Given the description of an element on the screen output the (x, y) to click on. 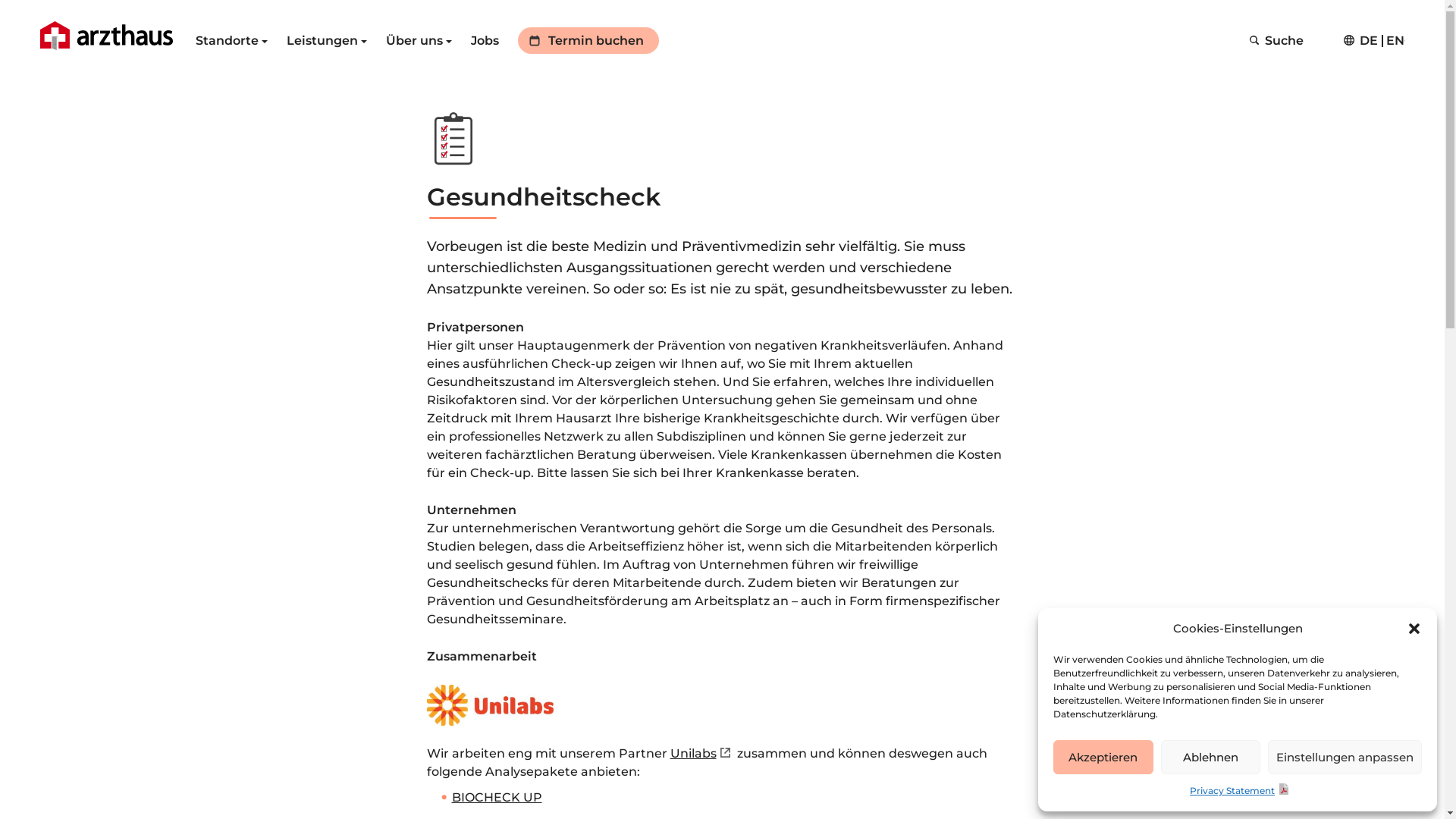
Privacy Statement Element type: text (1240, 790)
Unilabs Element type: text (702, 753)
ENGLISH Element type: text (1395, 40)
Jobs Element type: text (484, 40)
Einstellungen anpassen Element type: text (1344, 757)
Akzeptieren Element type: text (1103, 757)
Ablehnen Element type: text (1210, 757)
Leistungen Element type: text (326, 40)
Arzthaus Element type: text (105, 35)
Standorte Element type: text (231, 40)
BIOCHECK UP Element type: text (496, 797)
DEUTSCH Element type: text (1368, 40)
Termin buchen Element type: text (587, 40)
